Given the description of an element on the screen output the (x, y) to click on. 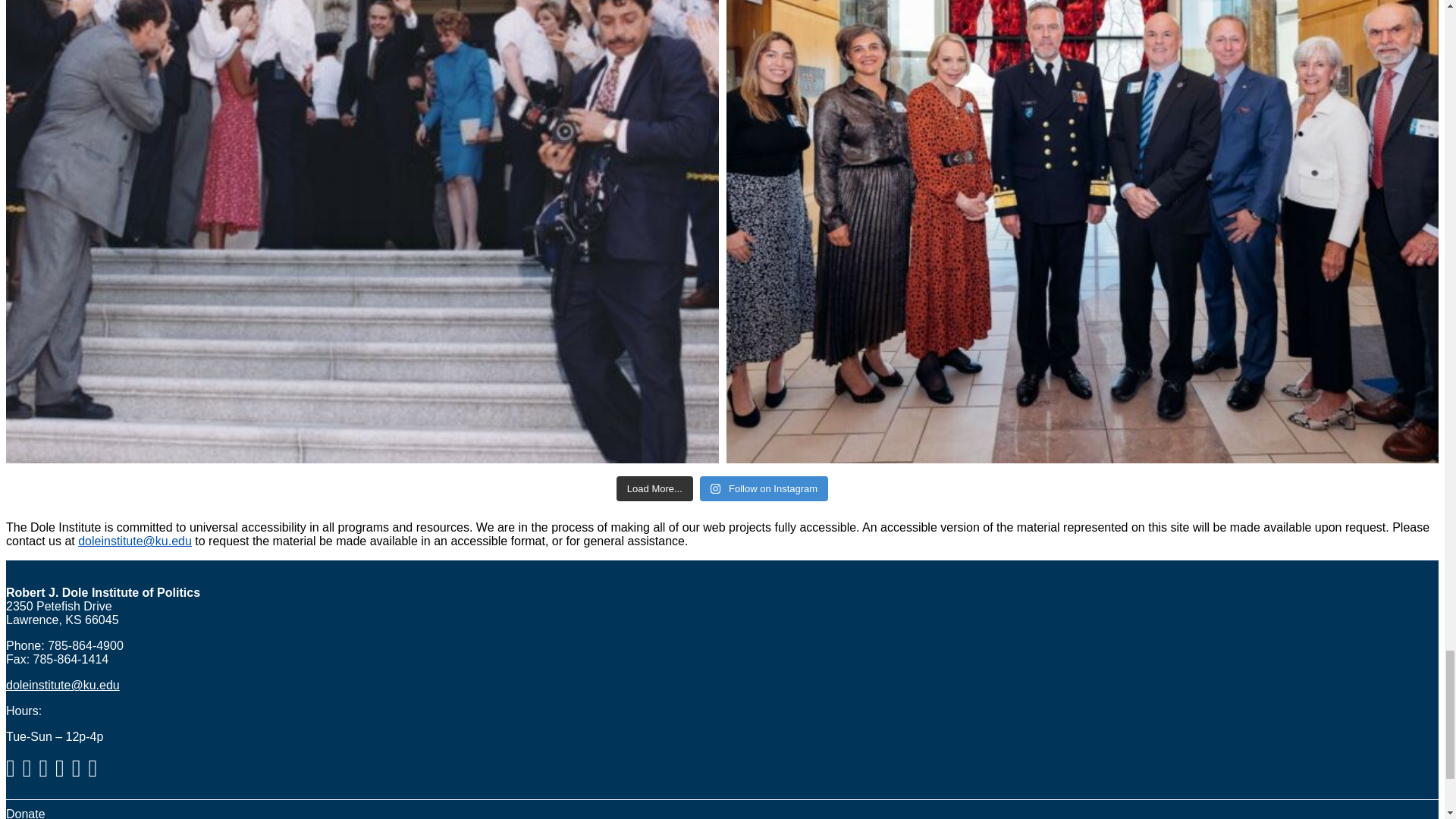
Donate (25, 813)
Load More... (654, 488)
Follow on Instagram (764, 488)
